Given the description of an element on the screen output the (x, y) to click on. 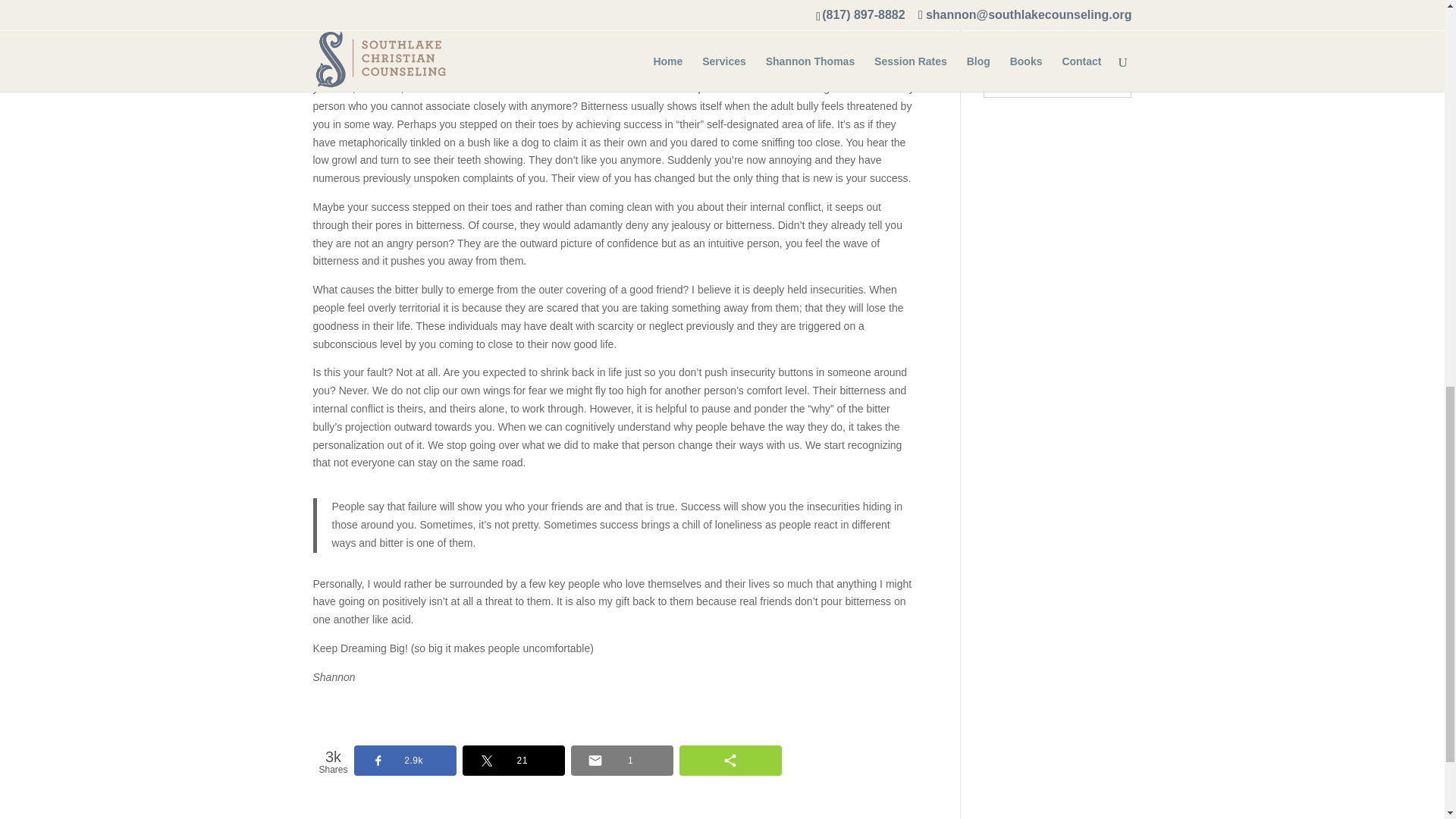
Relationships (1015, 2)
Uncategorized (1017, 23)
